Given the description of an element on the screen output the (x, y) to click on. 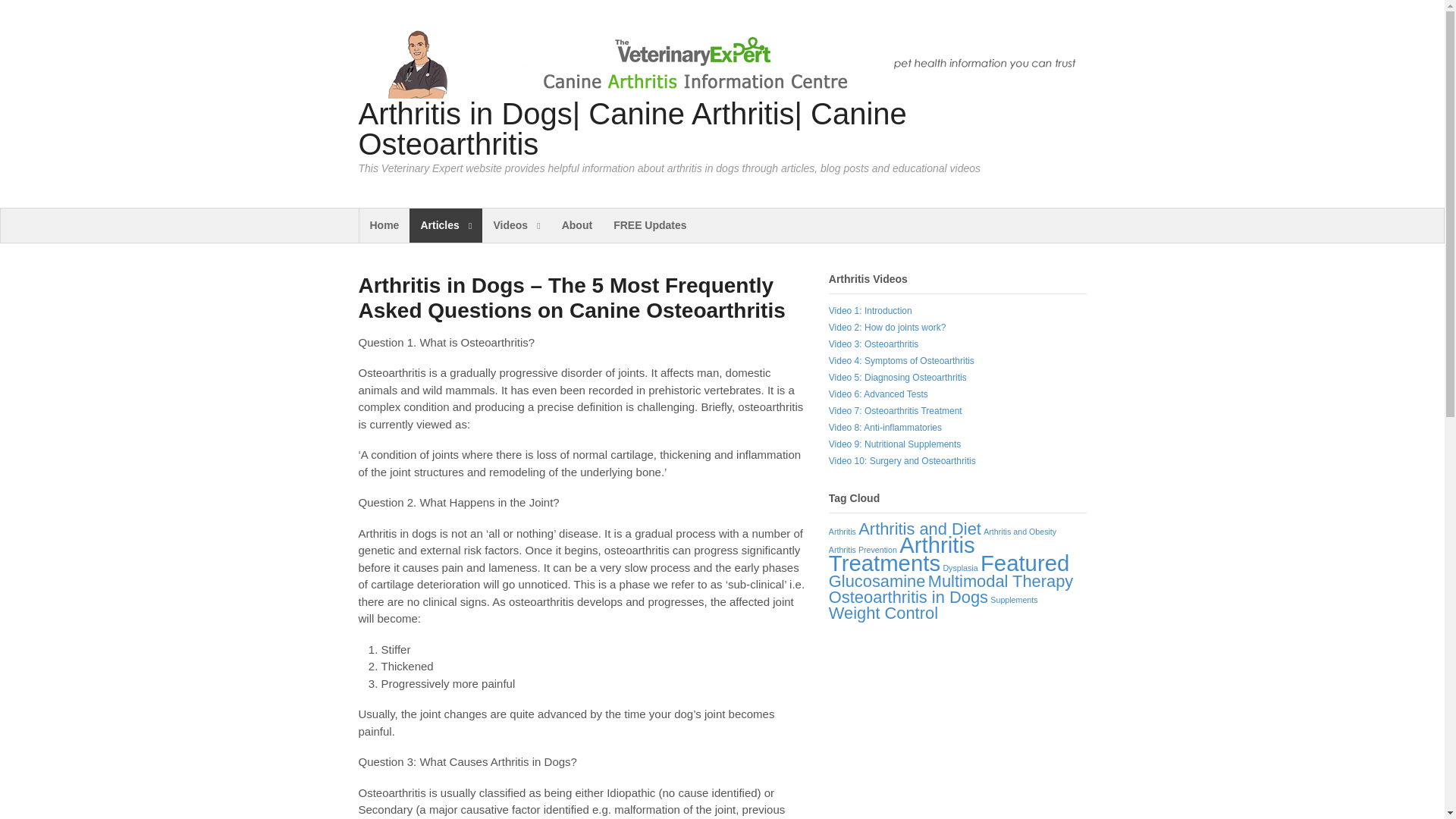
Video 4: Symptoms of Osteoarthritis (901, 360)
Arthritis and Obesity (1020, 531)
Videos (515, 225)
Video 5: Diagnosing Osteoarthritis (897, 377)
Video 7: Osteoarthritis Treatment (895, 410)
FREE Updates (649, 225)
Arthritis and Diet (920, 528)
About (576, 225)
Home (384, 225)
Video 2: How do joints work? (887, 327)
Video 9: Nutritional Supplements (894, 443)
Arthritis (842, 531)
Articles (445, 225)
Video 8: Anti-inflammatories (885, 427)
